Given the description of an element on the screen output the (x, y) to click on. 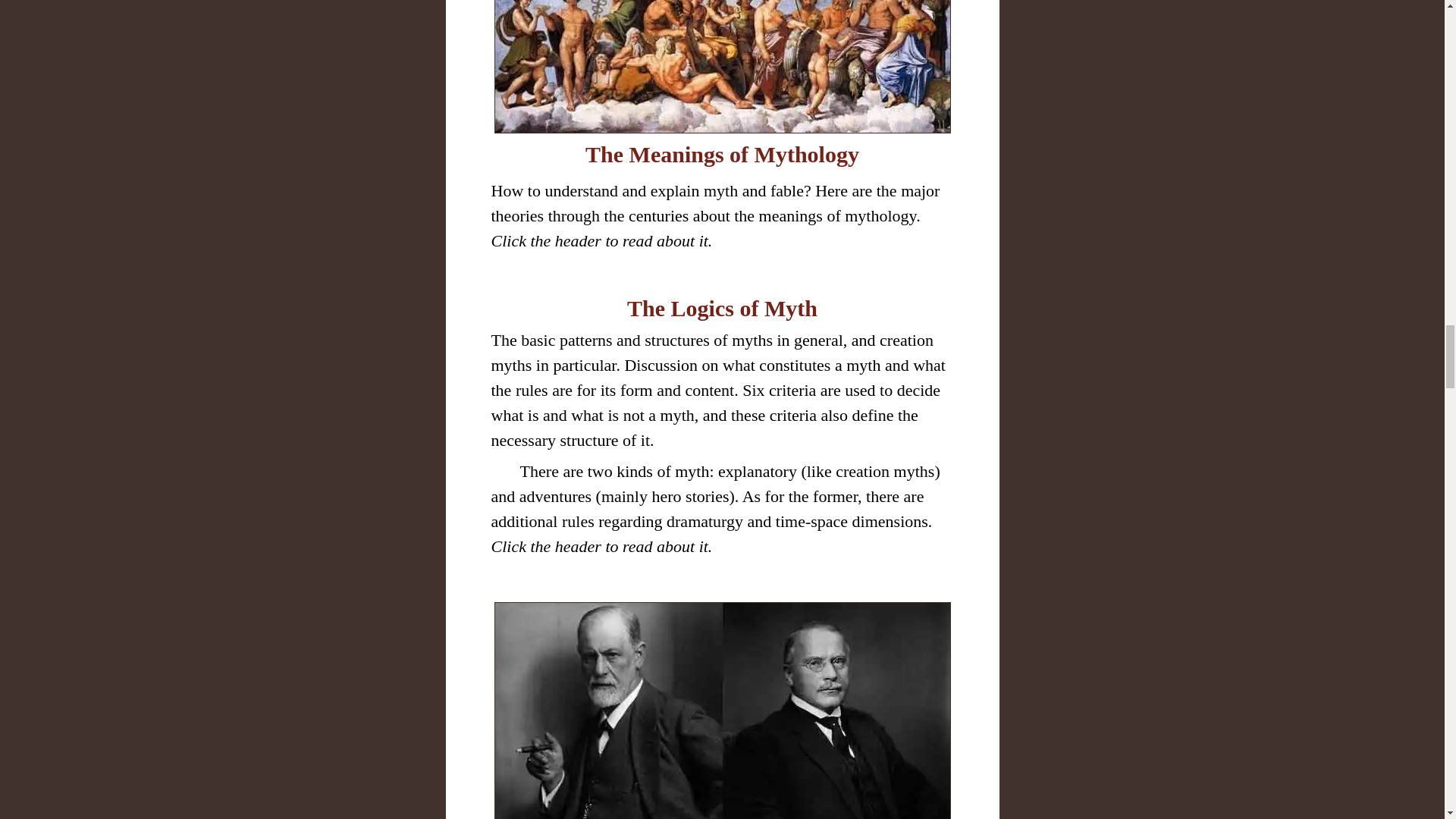
The Logics of Myth (721, 308)
The Meanings of Mythology (722, 154)
